Given the description of an element on the screen output the (x, y) to click on. 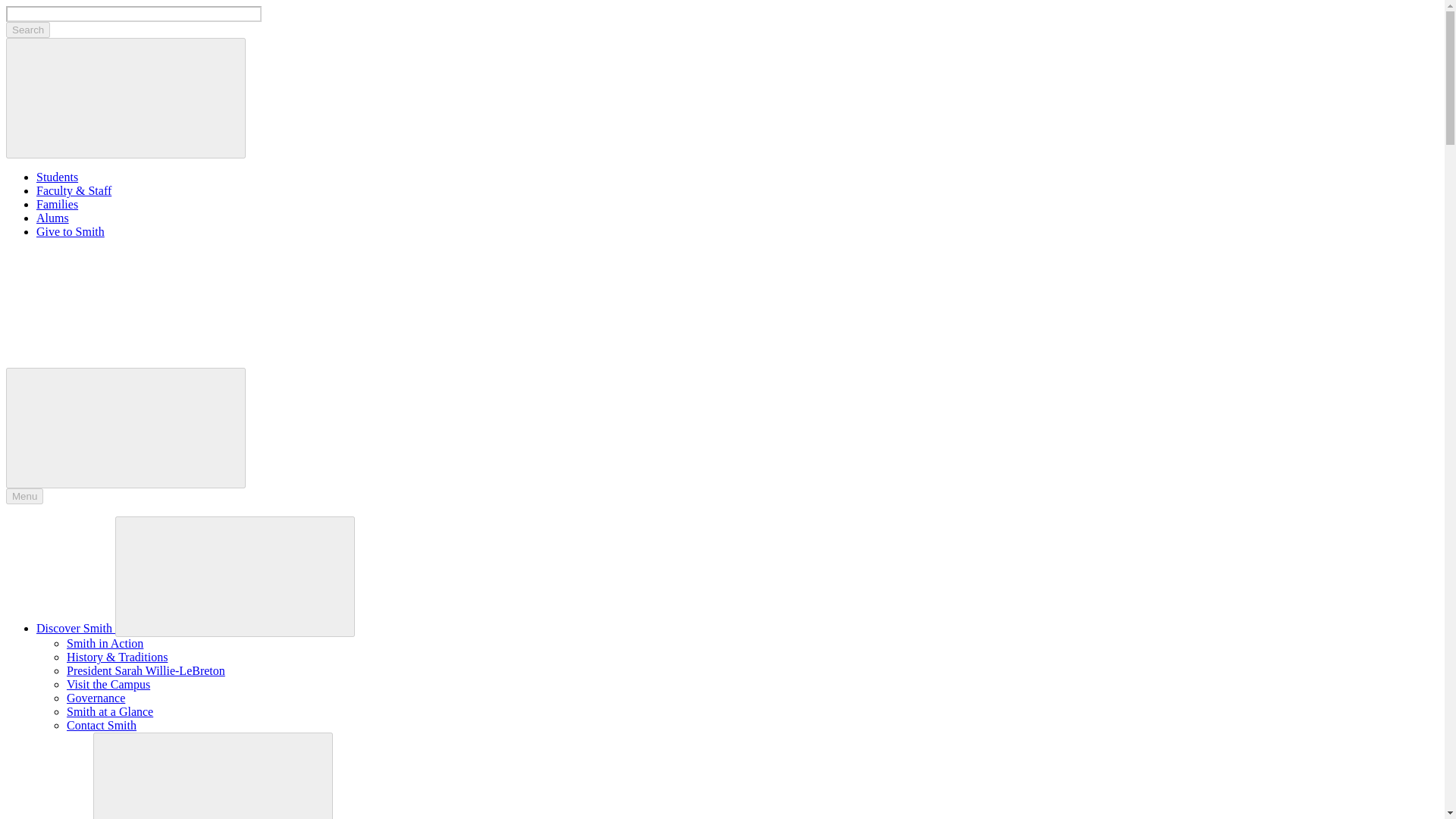
Smith at a Glance (109, 711)
Expand Discover Smith Menu (235, 576)
Search Toggle (125, 427)
Contact Smith (101, 725)
Search (27, 29)
Menu (24, 496)
Discover Smith (75, 627)
Search (27, 29)
Expand Academics Menu (213, 775)
Enter the terms you wish to search for. (133, 13)
